Given the description of an element on the screen output the (x, y) to click on. 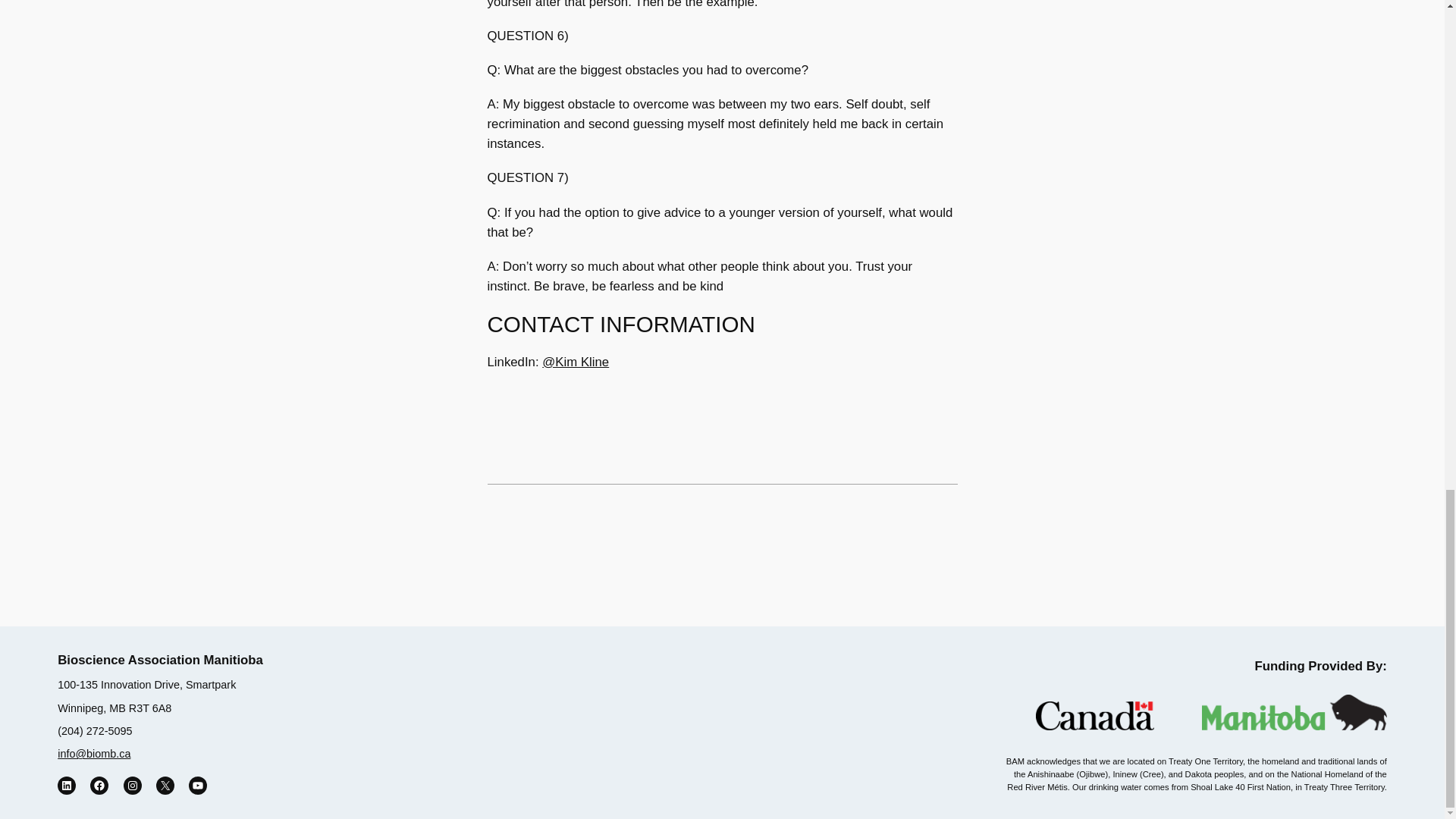
LinkedIn (66, 785)
Instagram (132, 785)
YouTube (197, 785)
Facebook (98, 785)
X (164, 785)
